Given the description of an element on the screen output the (x, y) to click on. 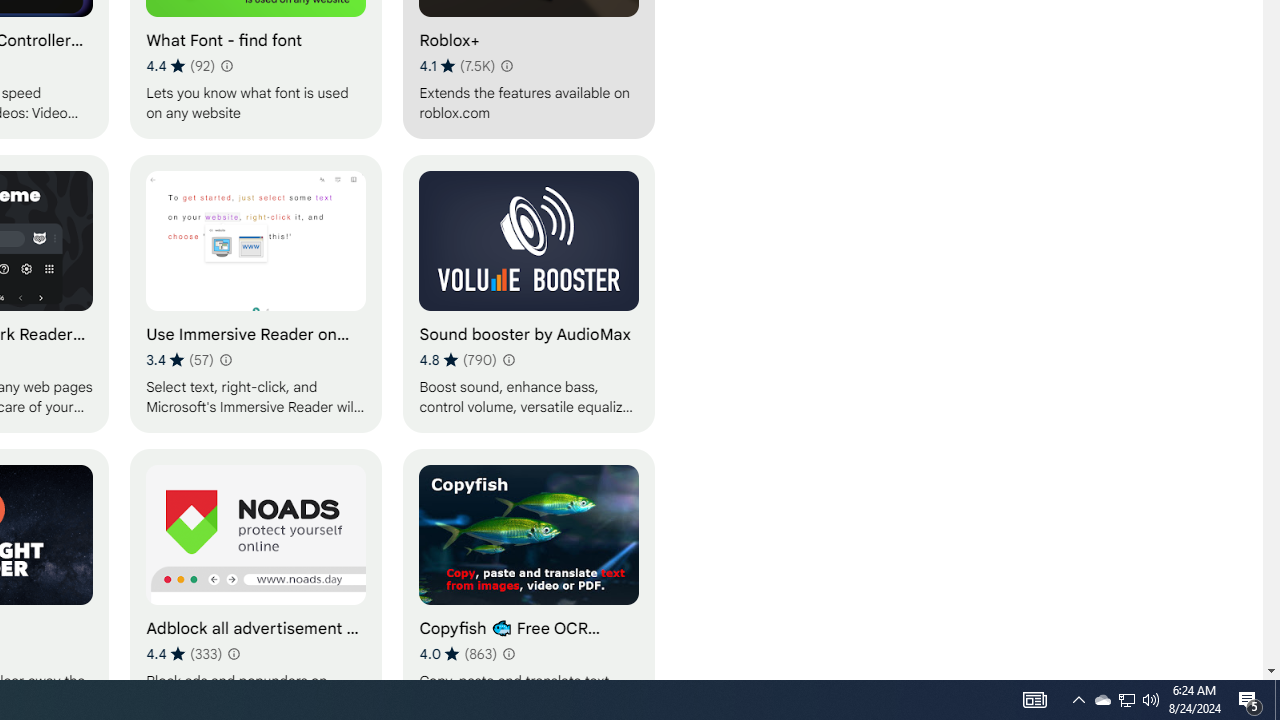
Average rating 4.8 out of 5 stars. 790 ratings. (457, 359)
Average rating 4.4 out of 5 stars. 333 ratings. (183, 653)
Average rating 4.1 out of 5 stars. 7.5K ratings. (457, 66)
Average rating 3.4 out of 5 stars. 57 ratings. (179, 359)
Learn more about results and reviews "Roblox+" (506, 65)
Average rating 4.0 out of 5 stars. 863 ratings. (457, 653)
Average rating 4.4 out of 5 stars. 92 ratings. (180, 66)
Learn more about results and reviews "What Font - find font" (226, 65)
Use Immersive Reader on Websites (256, 293)
Sound booster by AudioMax (529, 293)
